Given the description of an element on the screen output the (x, y) to click on. 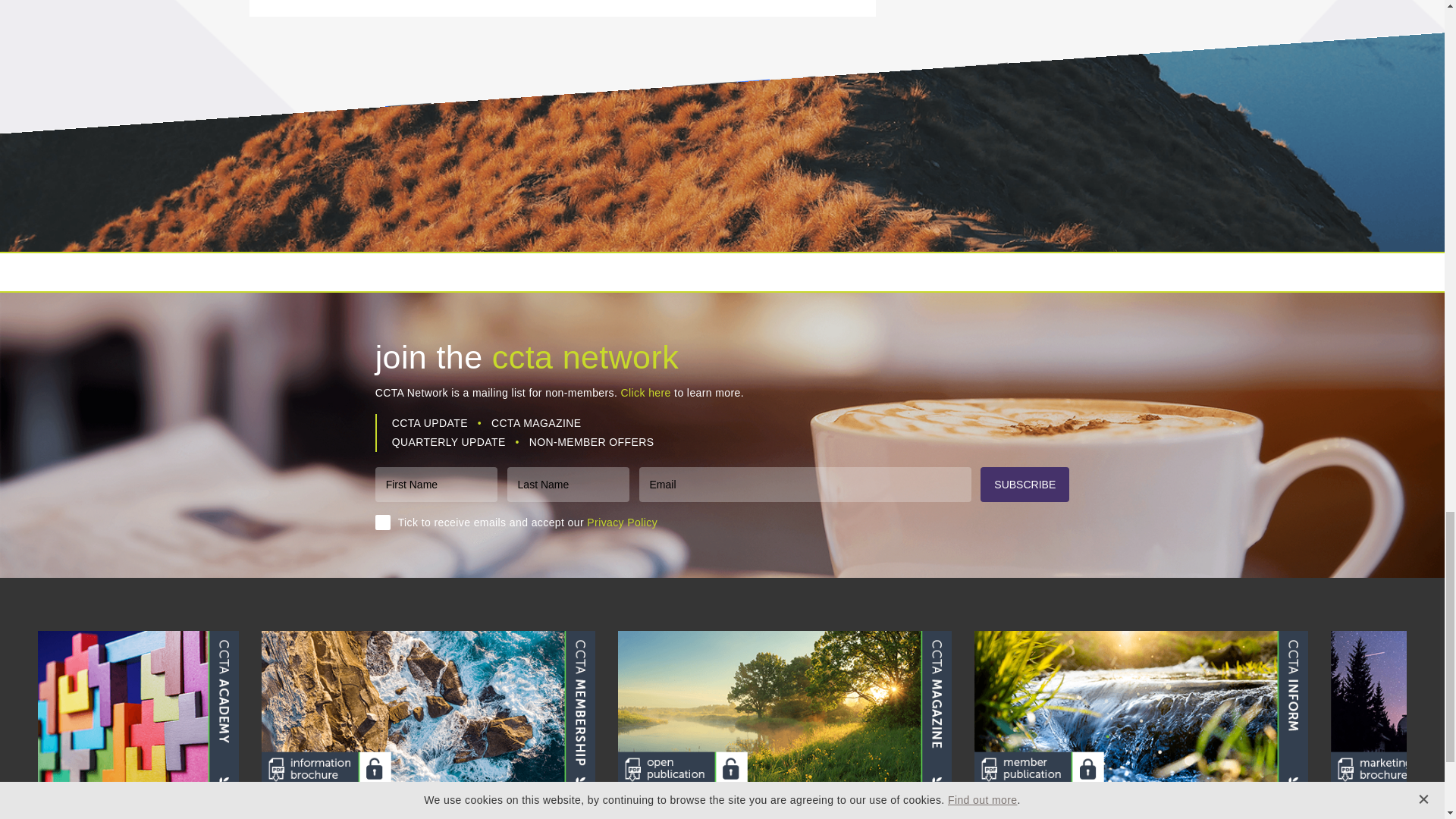
Subscribe (1023, 484)
